Given the description of an element on the screen output the (x, y) to click on. 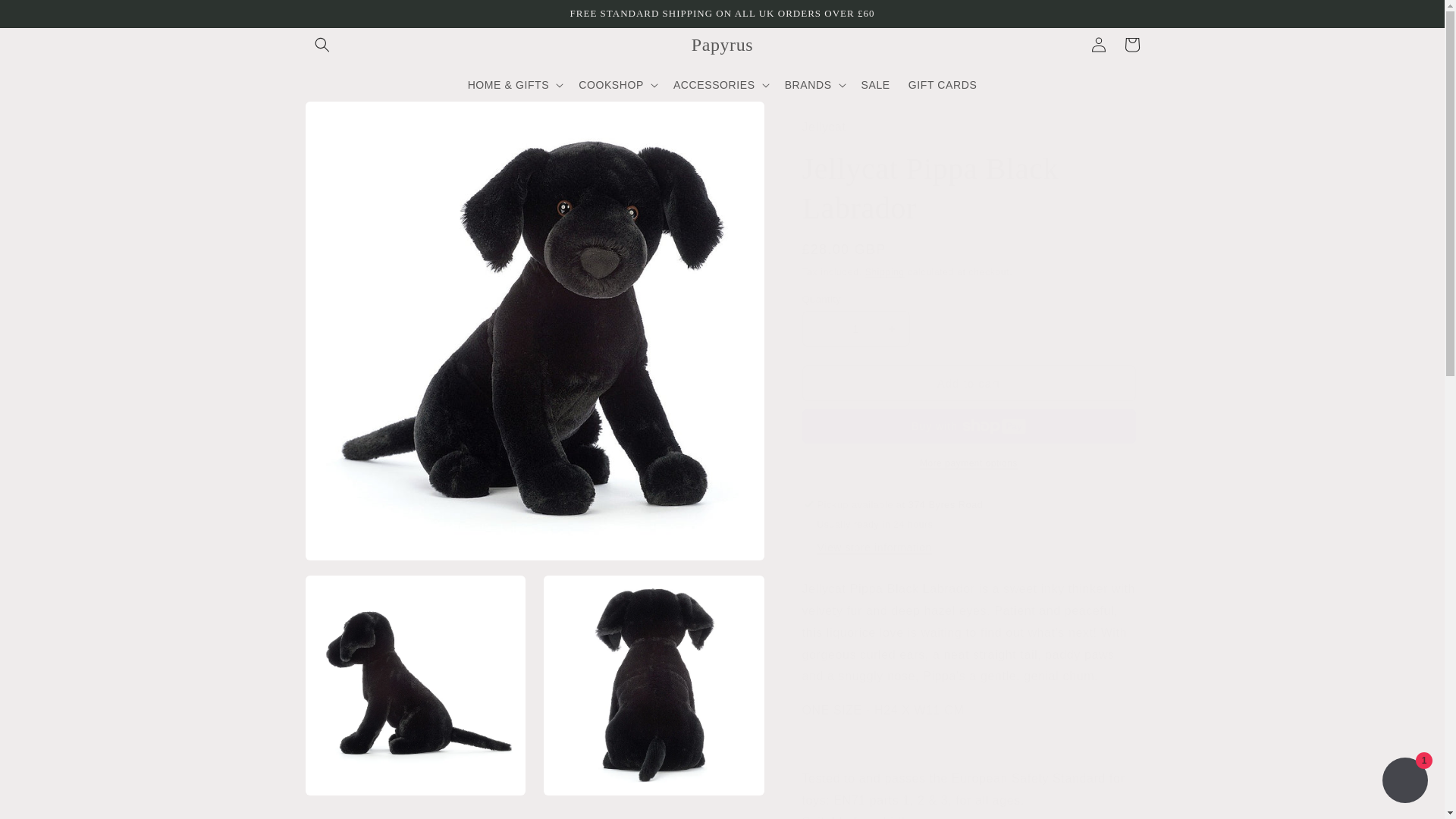
Open media 2 in modal (414, 685)
1 (856, 328)
Open media 3 in modal (653, 685)
Skip to content (45, 17)
Shopify online store chat (1404, 781)
